Given the description of an element on the screen output the (x, y) to click on. 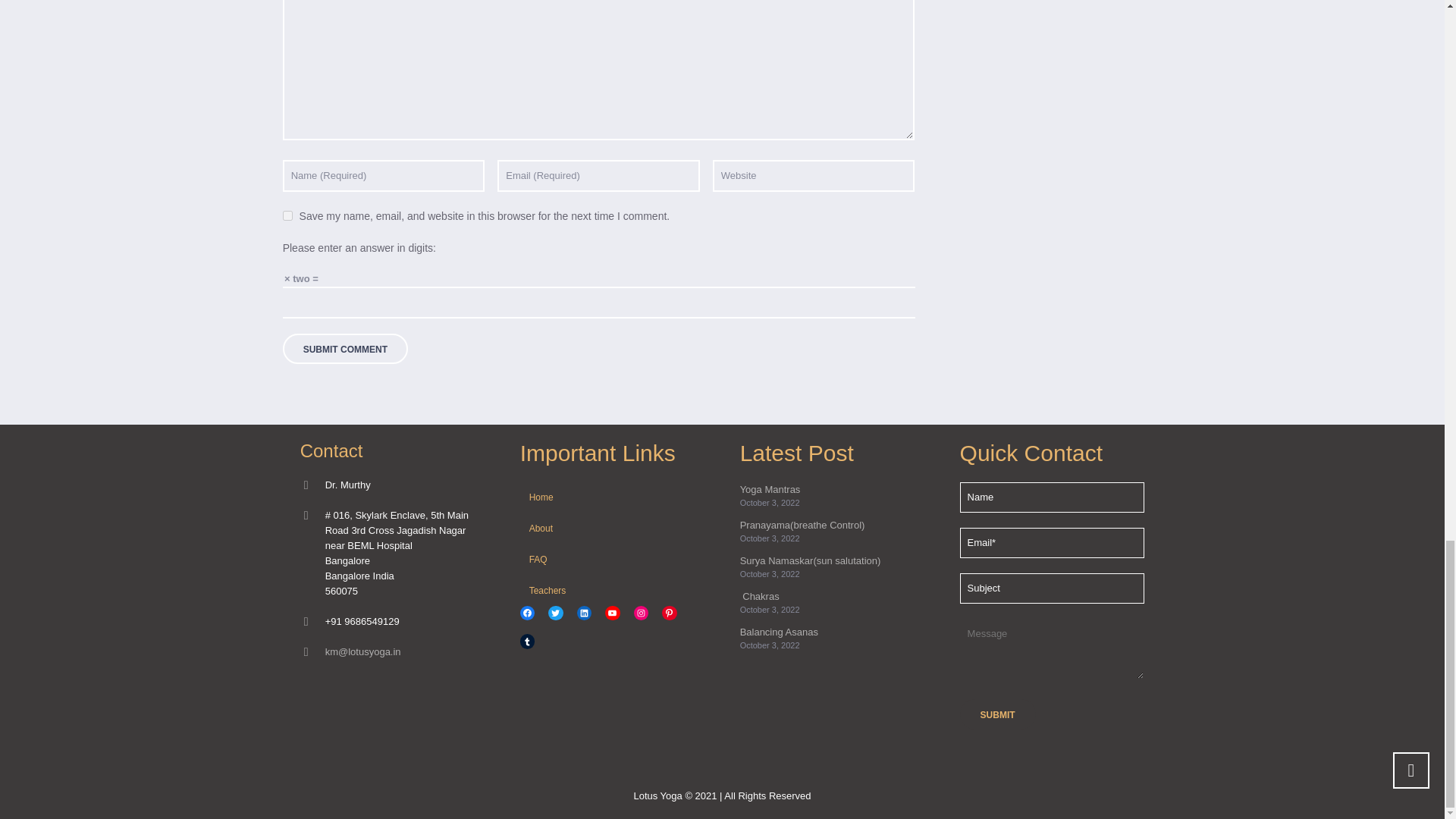
Submit (997, 714)
Submit Comment (344, 348)
yes (287, 215)
Submit Comment (344, 348)
